Given the description of an element on the screen output the (x, y) to click on. 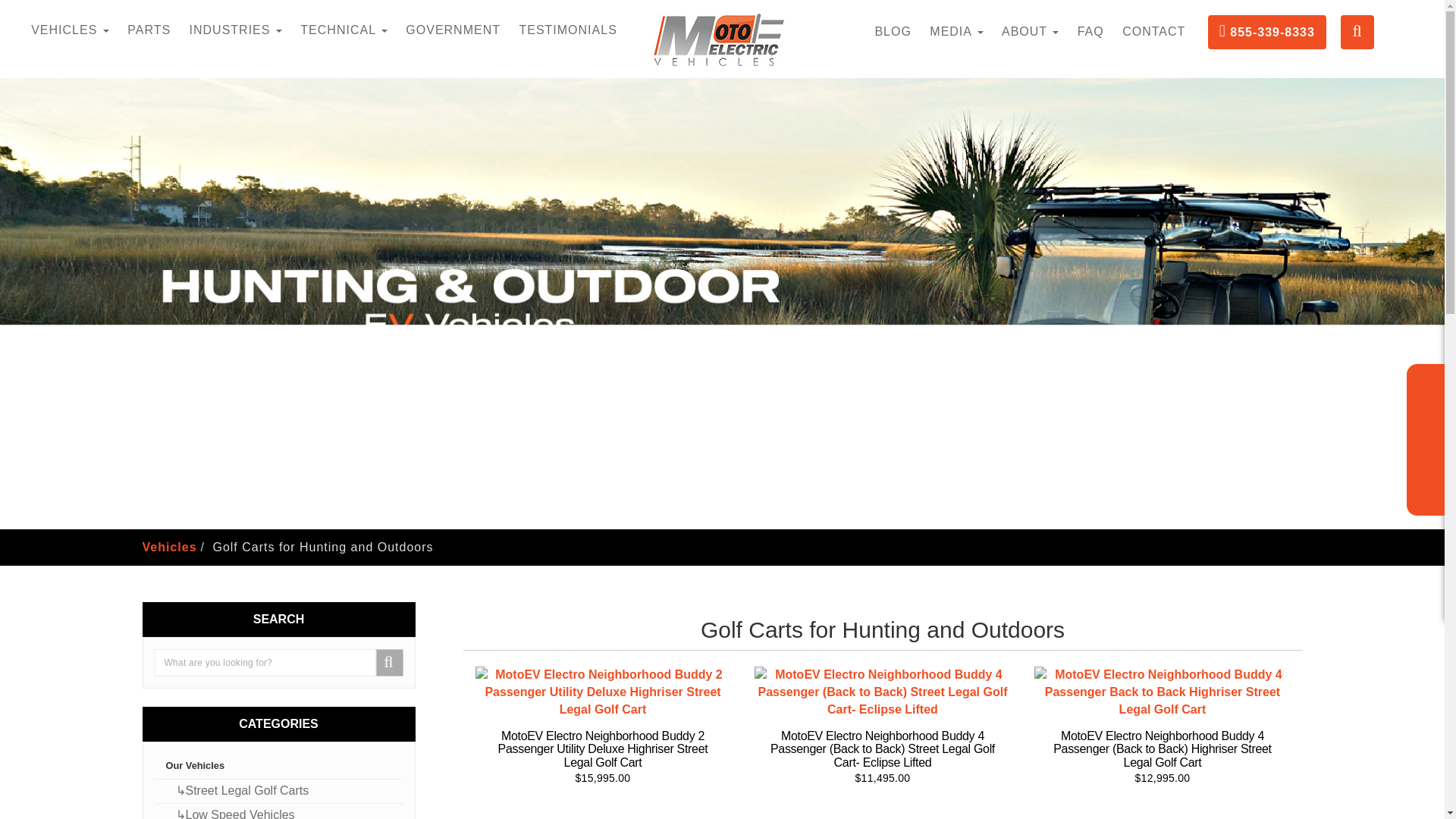
Vehicles (69, 30)
VEHICLES (69, 30)
TECHNICAL (343, 30)
Parts  (148, 30)
INDUSTRIES (235, 30)
Industries (235, 30)
PARTS (148, 30)
